Given the description of an element on the screen output the (x, y) to click on. 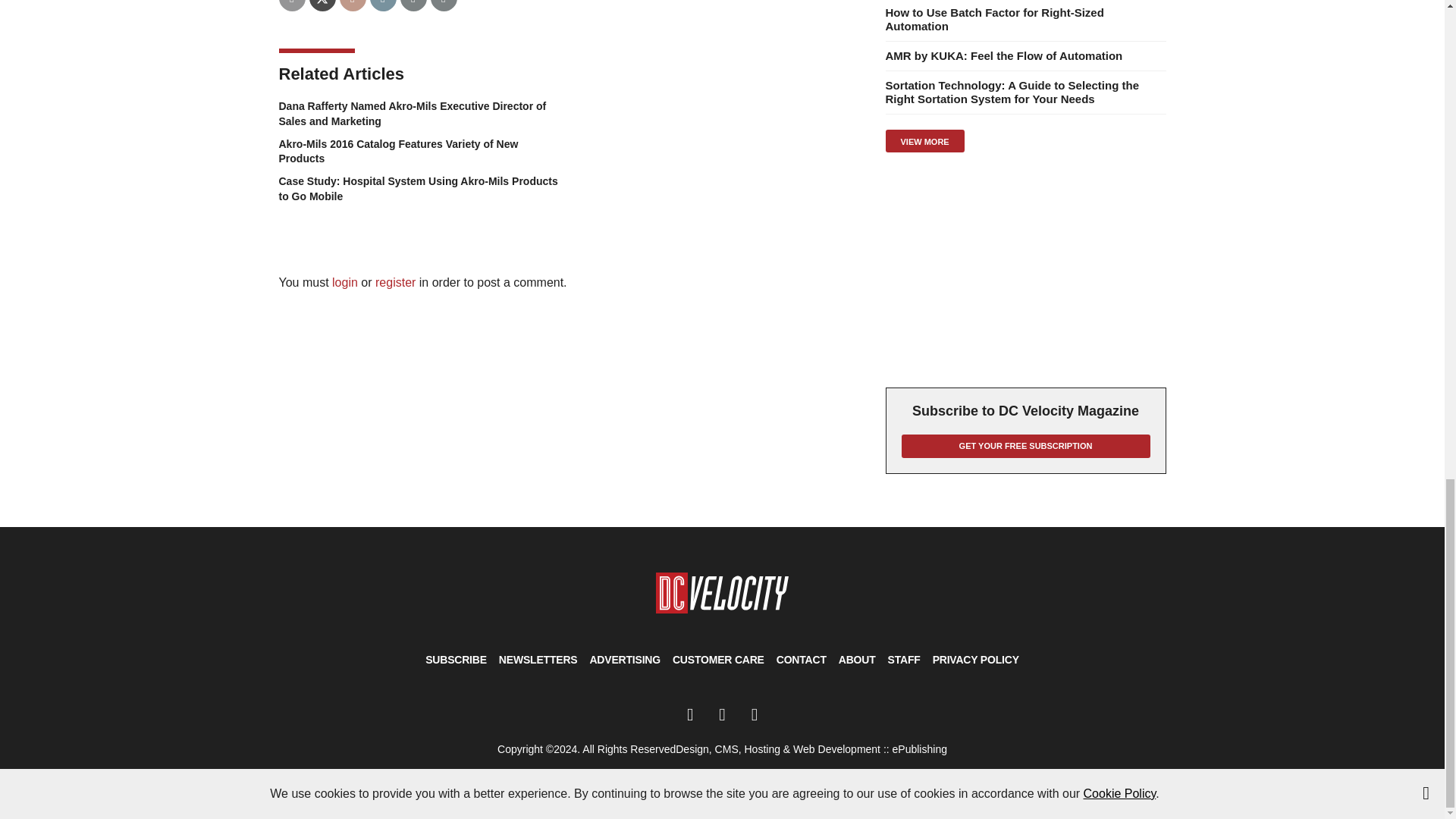
3rd party ad content (1024, 269)
